Given the description of an element on the screen output the (x, y) to click on. 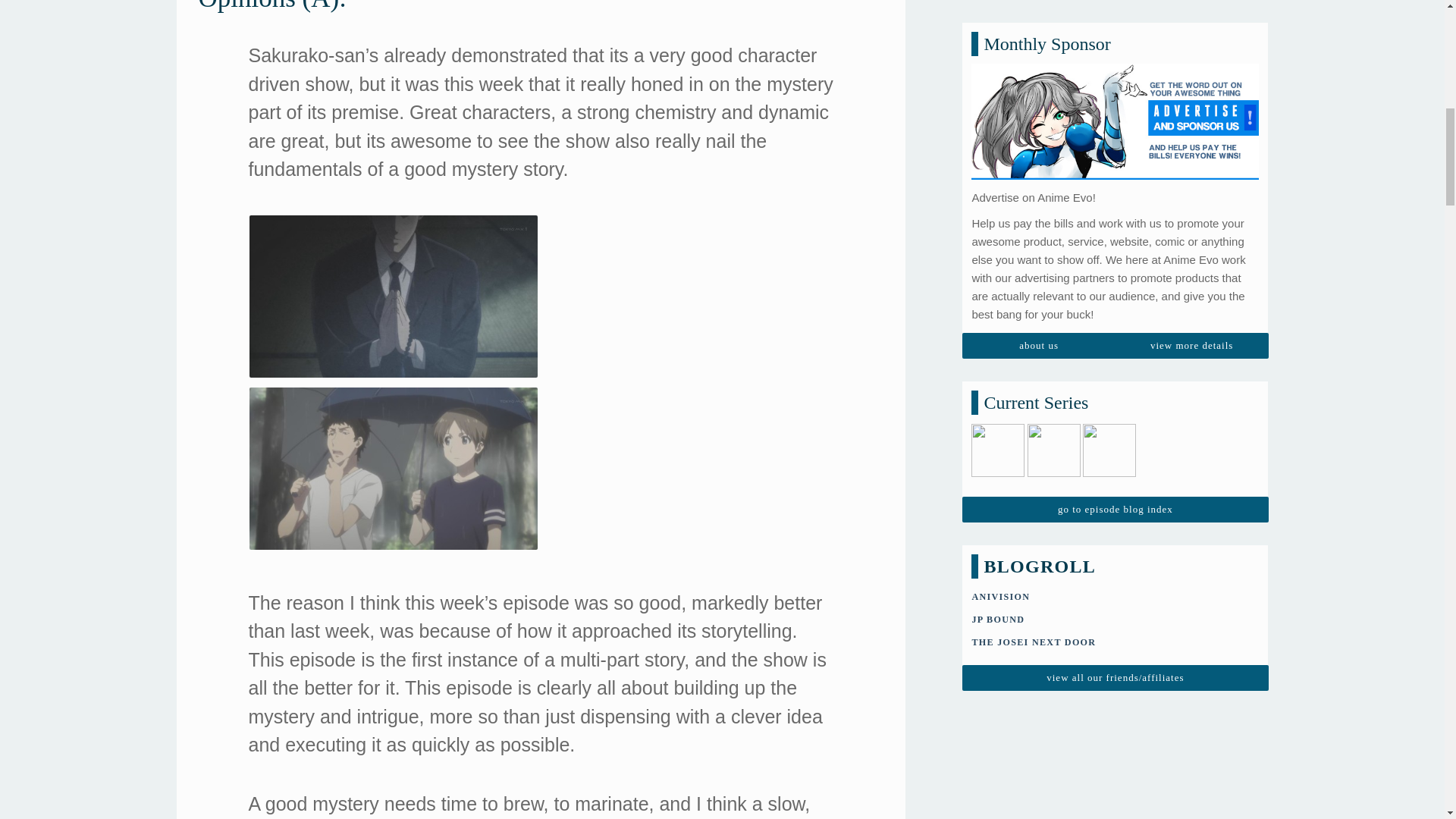
Great Anime Blog run by Dee! (1033, 429)
Kaguya-sama 2 EP Blog (1109, 260)
Railgun T EP Blog (1053, 260)
Shokugeki 5 EP Blog (998, 260)
